Given the description of an element on the screen output the (x, y) to click on. 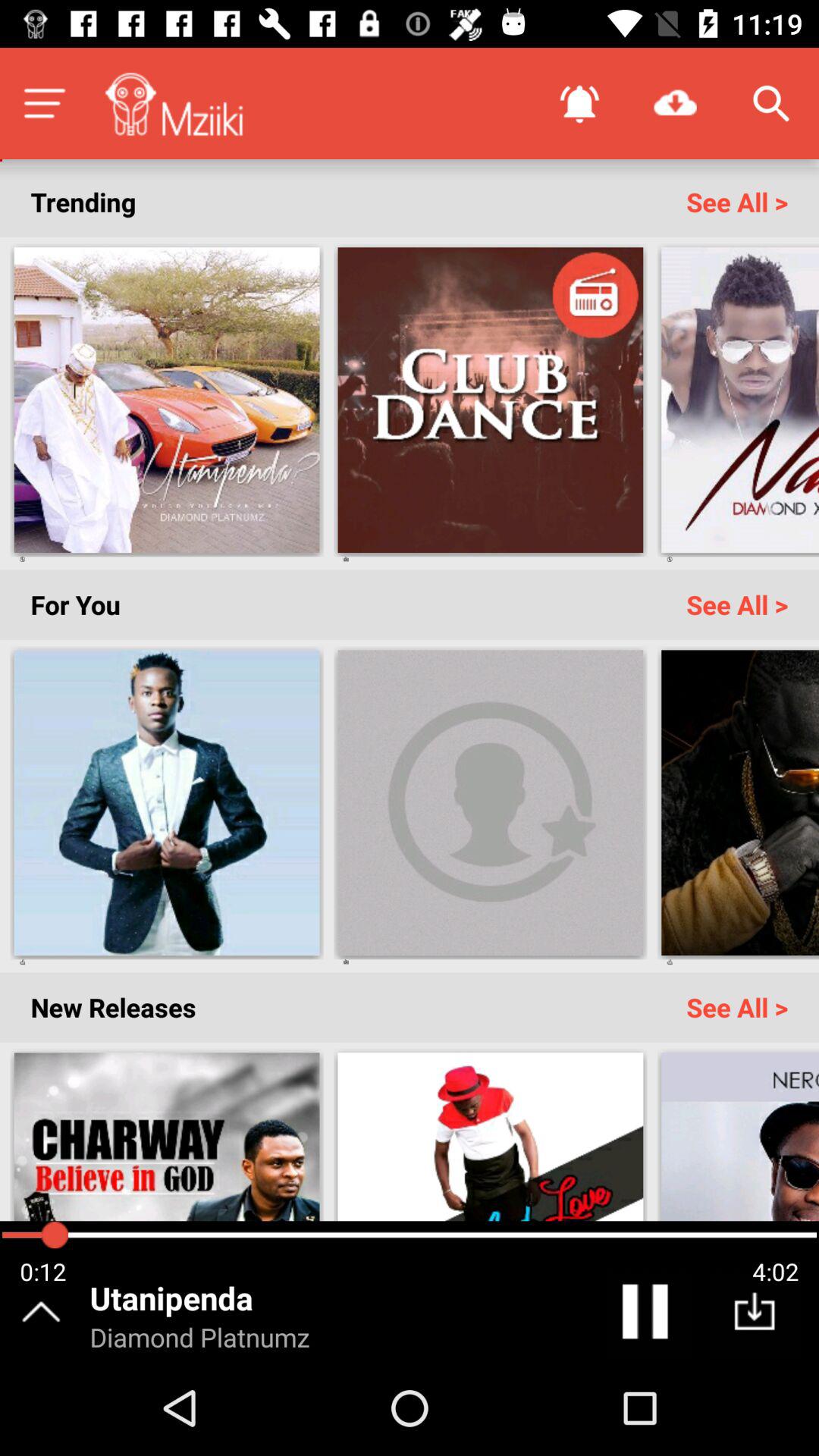
select the icon above see all > item (771, 103)
